Given the description of an element on the screen output the (x, y) to click on. 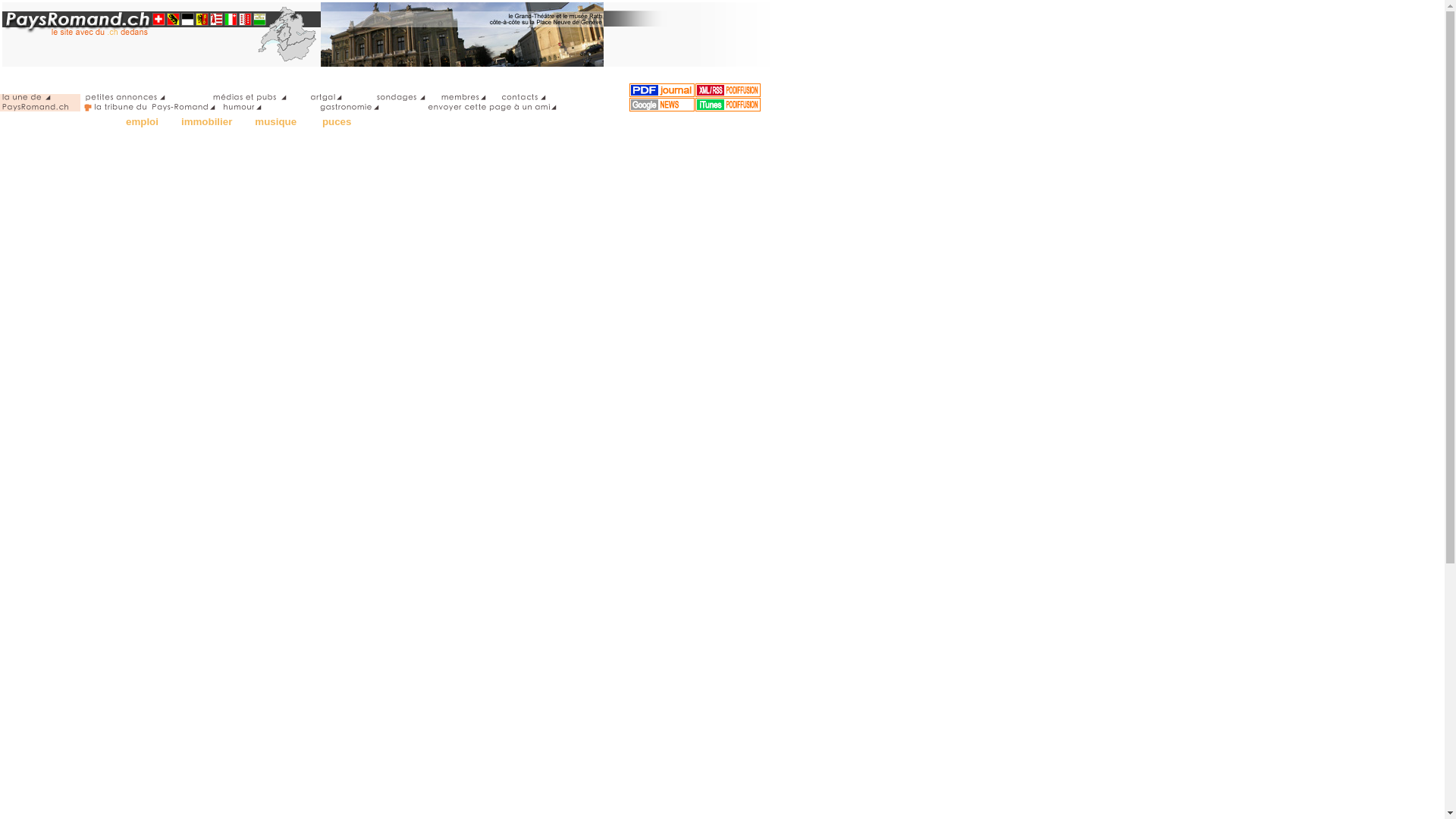
Advertisement Element type: hover (60, 383)
emploi Element type: text (141, 121)
Advertisement Element type: hover (60, 133)
musique  Element type: text (276, 121)
immobilier Element type: text (206, 121)
Advertisement Element type: hover (60, 668)
puces Element type: text (336, 121)
